Given the description of an element on the screen output the (x, y) to click on. 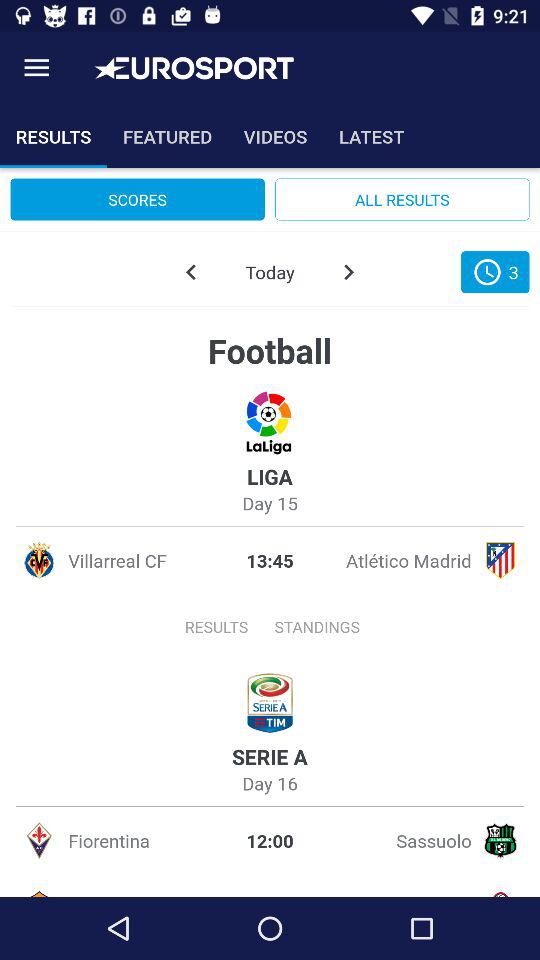
press the icon next to the scores (402, 199)
